Given the description of an element on the screen output the (x, y) to click on. 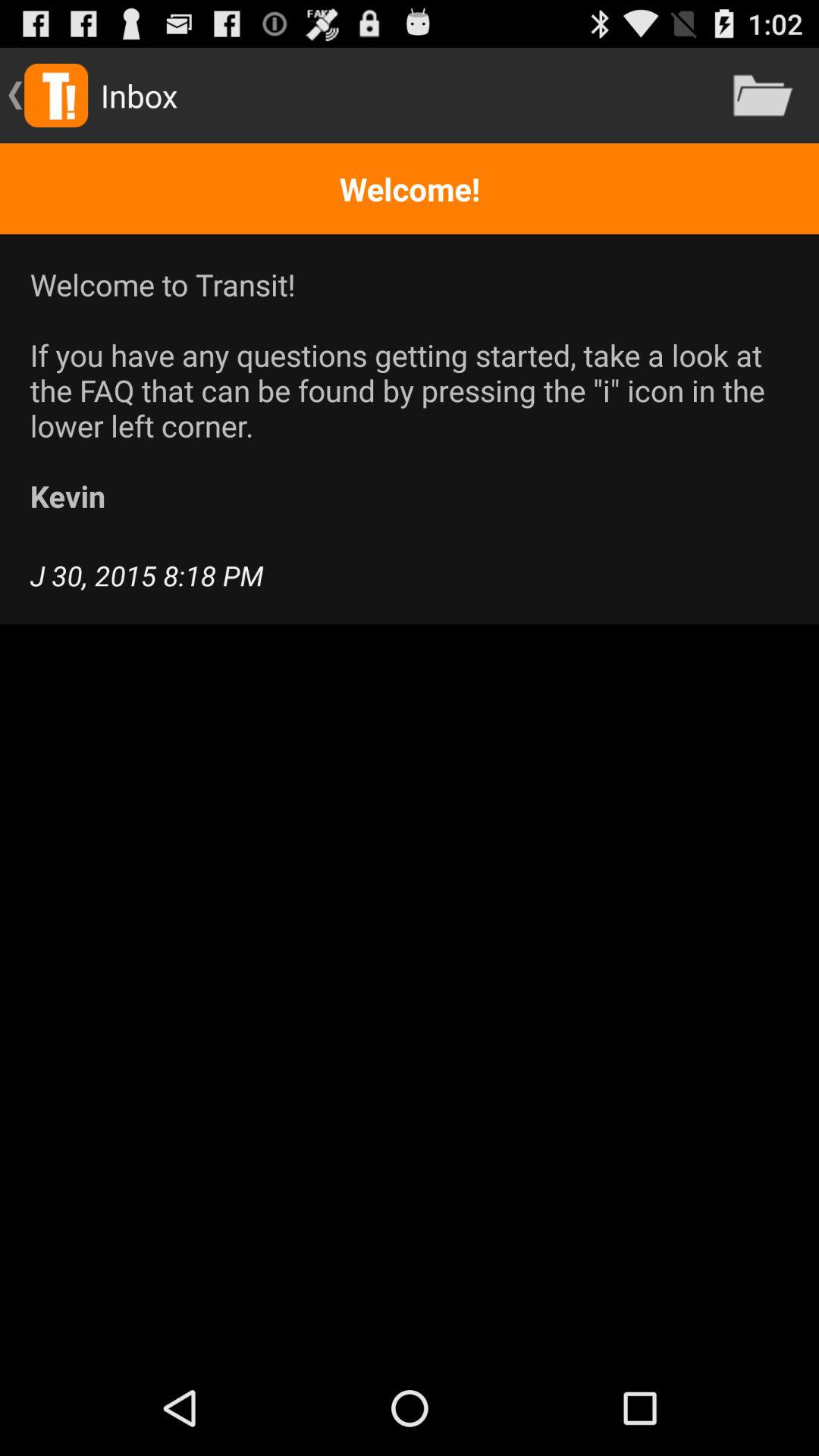
choose the icon next to inbox item (763, 95)
